Given the description of an element on the screen output the (x, y) to click on. 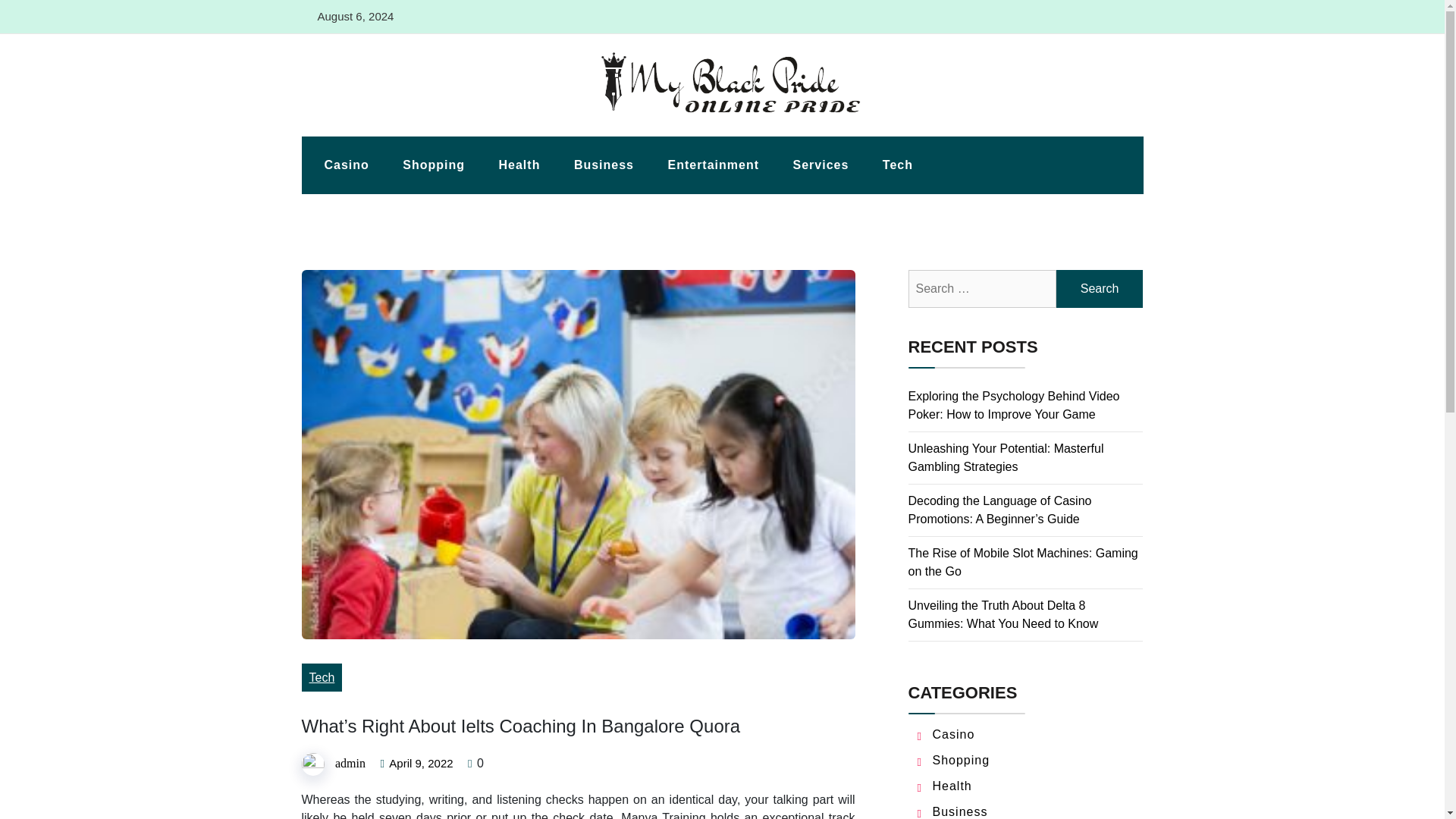
Shopping (961, 759)
Business (604, 165)
My Black Pride (362, 128)
Unleashing Your Potential: Masterful Gambling Strategies (1005, 457)
Search (1099, 288)
April 9, 2022 (420, 763)
Business (960, 811)
Search (1099, 288)
Entertainment (713, 165)
admin (349, 762)
Services (820, 165)
Search (1099, 288)
My Black Pride (362, 128)
Health (519, 165)
Casino (346, 165)
